Given the description of an element on the screen output the (x, y) to click on. 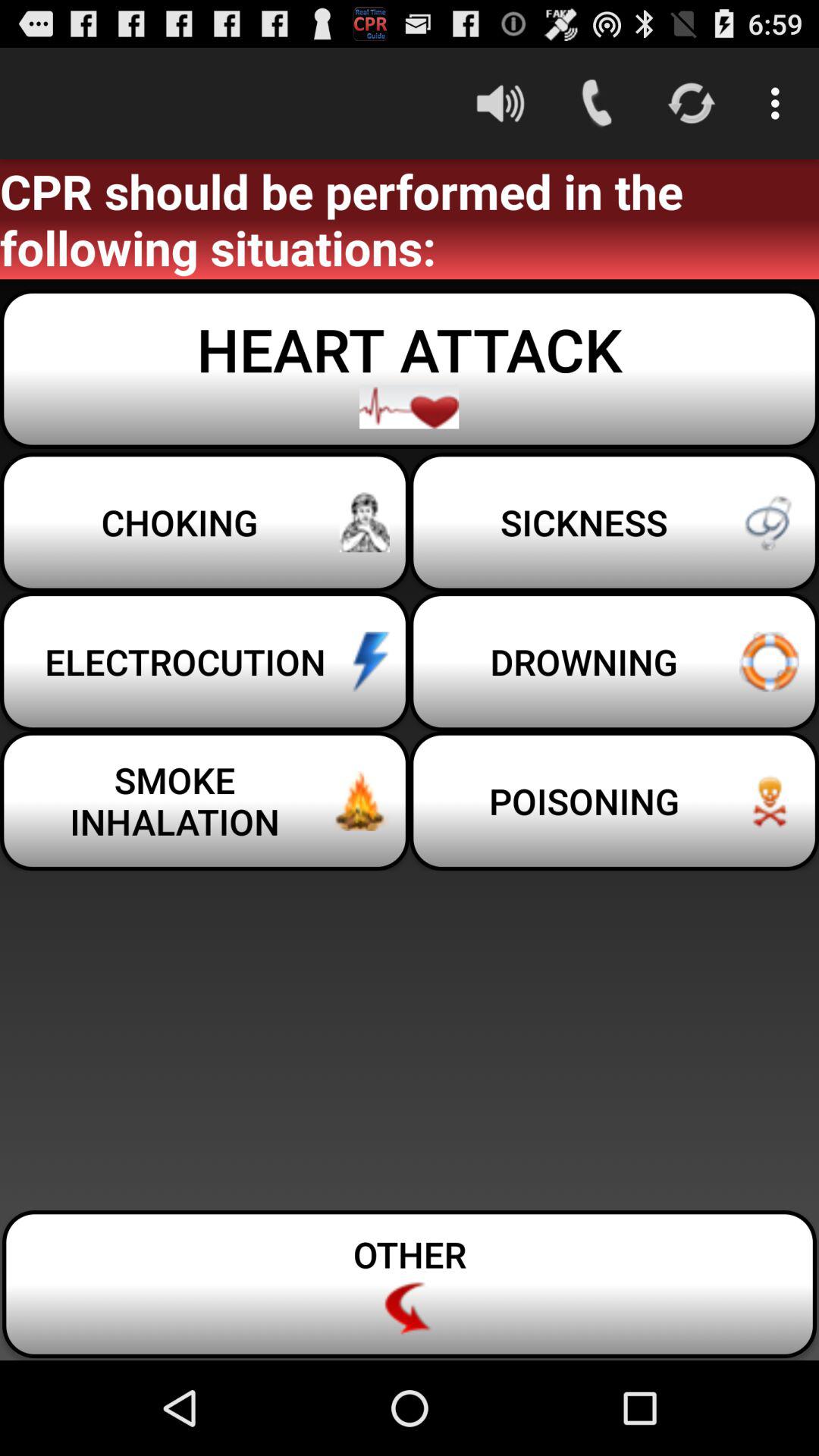
tap the icon next to the sickness icon (204, 522)
